Given the description of an element on the screen output the (x, y) to click on. 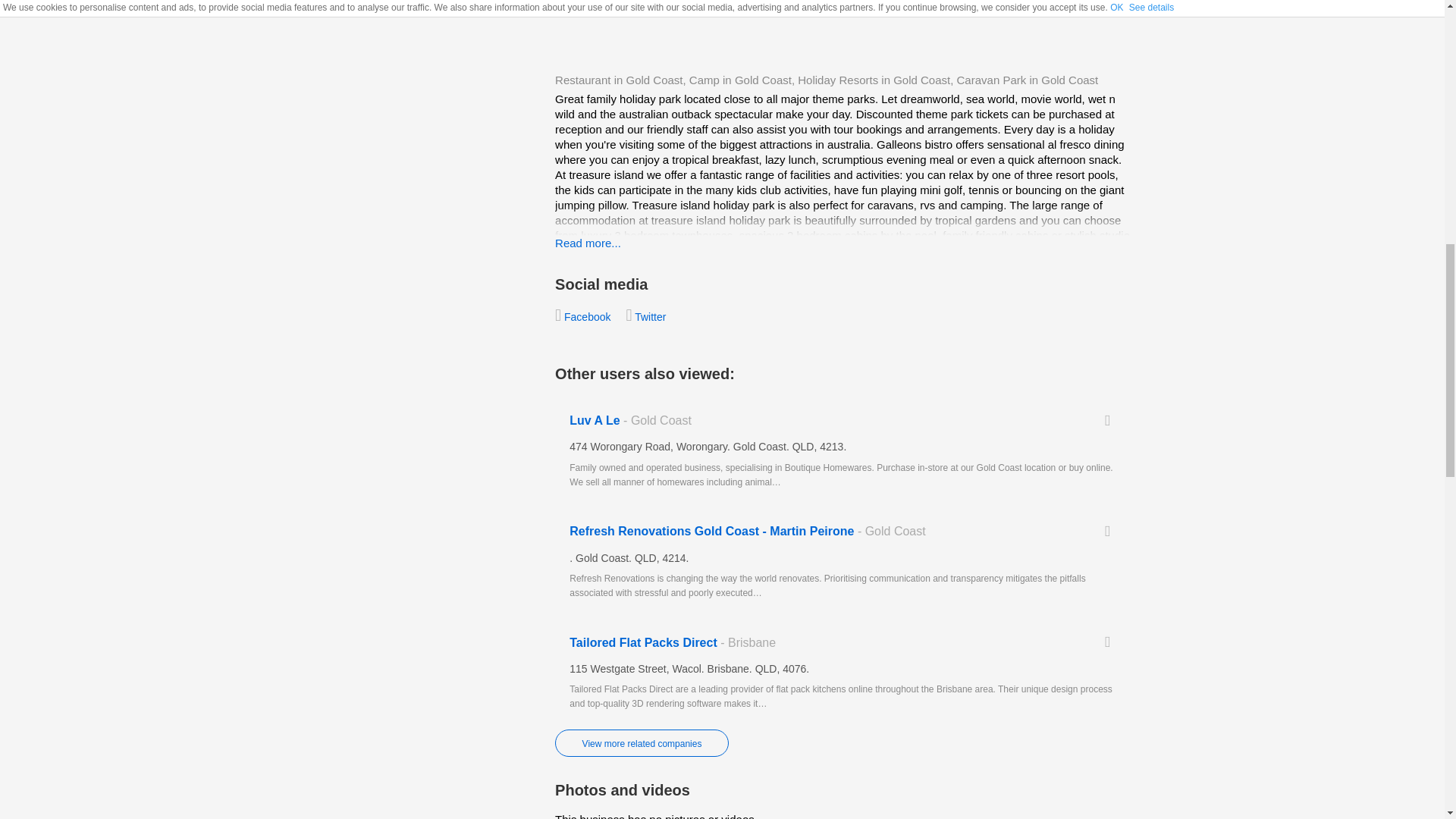
Refresh Renovations Gold Coast - Martin Peirone - Gold Coast (843, 562)
Luv A Le - Gold Coast (843, 451)
Advertisement (732, 32)
Tailored Flat Packs Direct - Brisbane (843, 673)
